Given the description of an element on the screen output the (x, y) to click on. 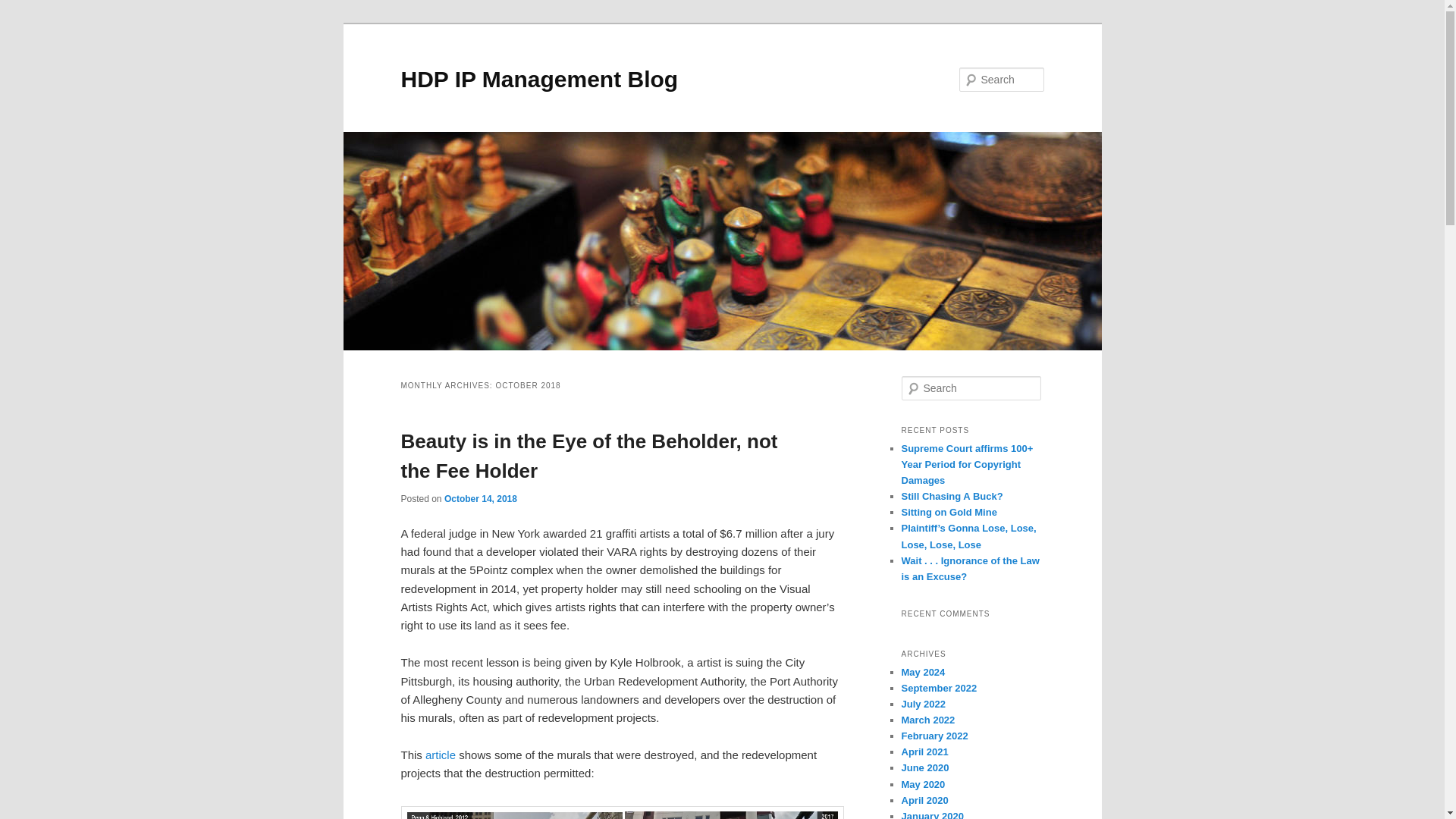
February 2022 (934, 736)
April 2020 (924, 799)
March 2022 (928, 719)
Sitting on Gold Mine (948, 511)
April 2021 (924, 751)
Still Chasing A Buck? (952, 496)
October 14, 2018 (480, 498)
Beauty is in the Eye of the Beholder, not the Fee Holder (588, 455)
HDP IP Management Blog (539, 78)
1:32 pm (480, 498)
Wait . . . Ignorance of the Law is an Excuse? (970, 568)
January 2020 (931, 814)
Search (24, 8)
article (440, 754)
